Given the description of an element on the screen output the (x, y) to click on. 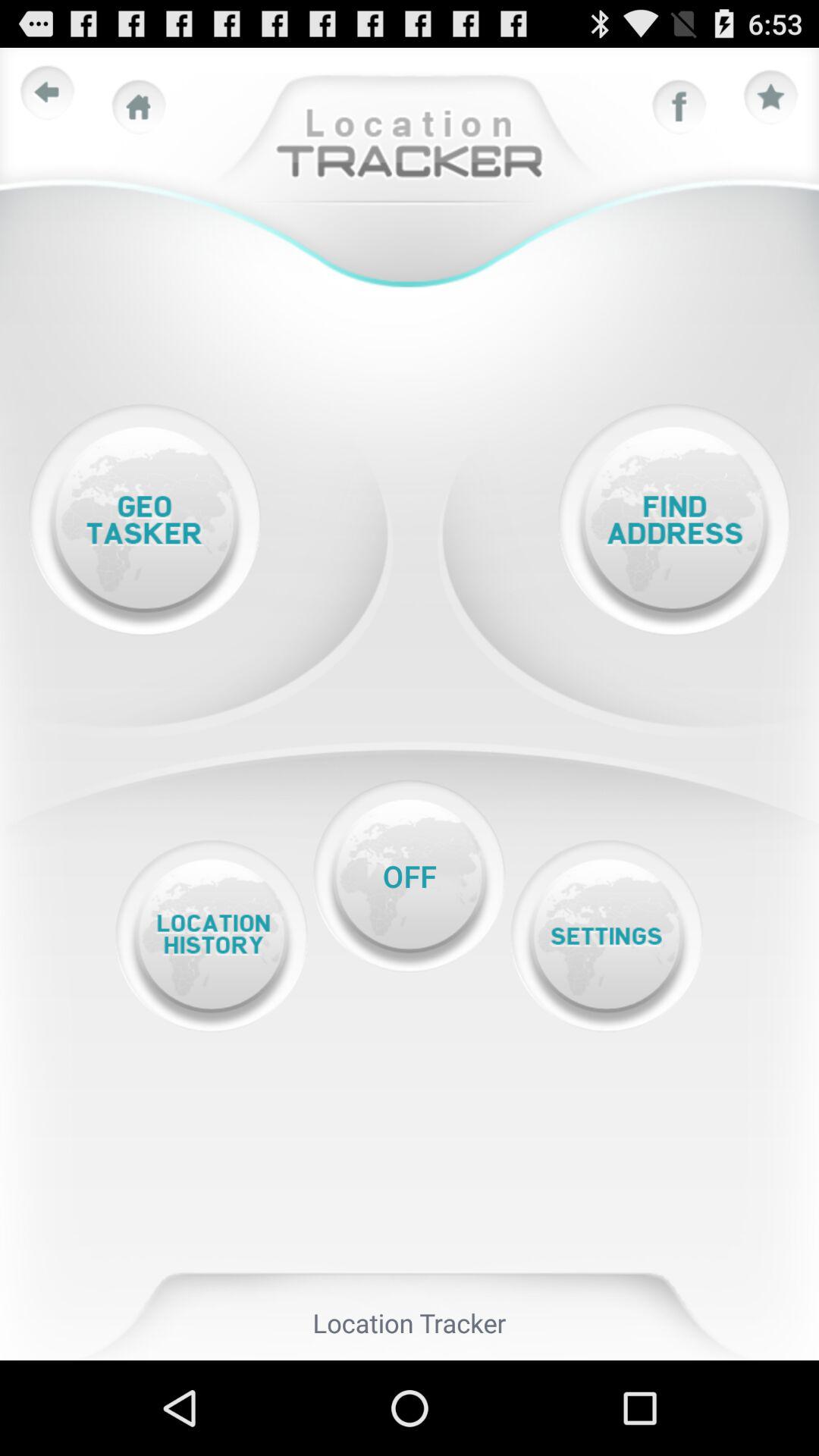
click star icon (771, 97)
